Given the description of an element on the screen output the (x, y) to click on. 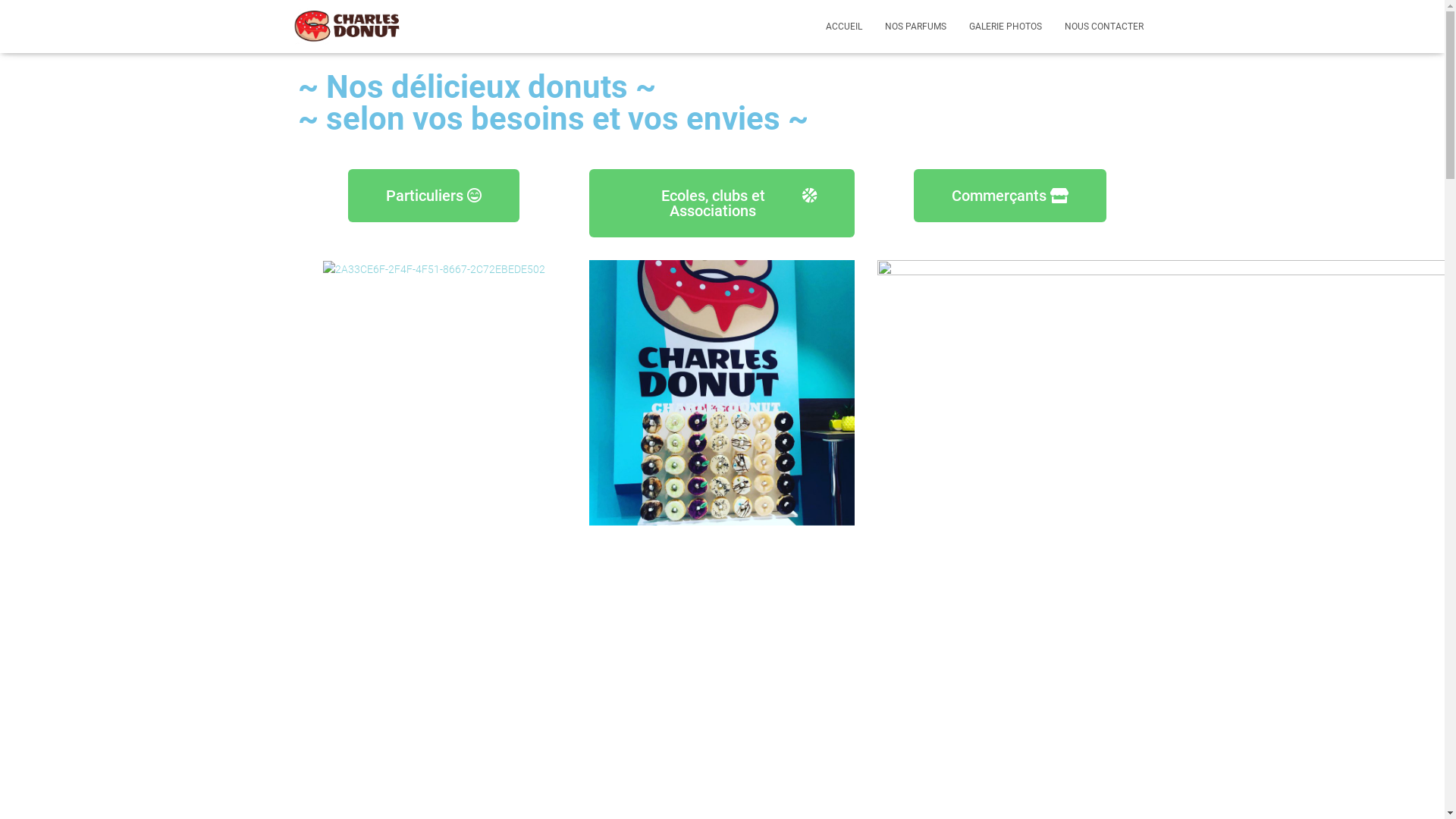
2A33CE6F-2F4F-4F51-8667-2C72EBEDE502 Element type: hover (434, 269)
Bienvenue chez Charles Donut 2022 Element type: hover (722, 16)
NOUS CONTACTER Element type: text (1103, 26)
GALERIE PHOTOS Element type: text (1004, 26)
ACCUEIL Element type: text (843, 26)
Particuliers Element type: text (433, 195)
Charles Donut Element type: hover (347, 26)
Ecoles, clubs et Associations Element type: text (721, 203)
NOS PARFUMS Element type: text (915, 26)
